Given the description of an element on the screen output the (x, y) to click on. 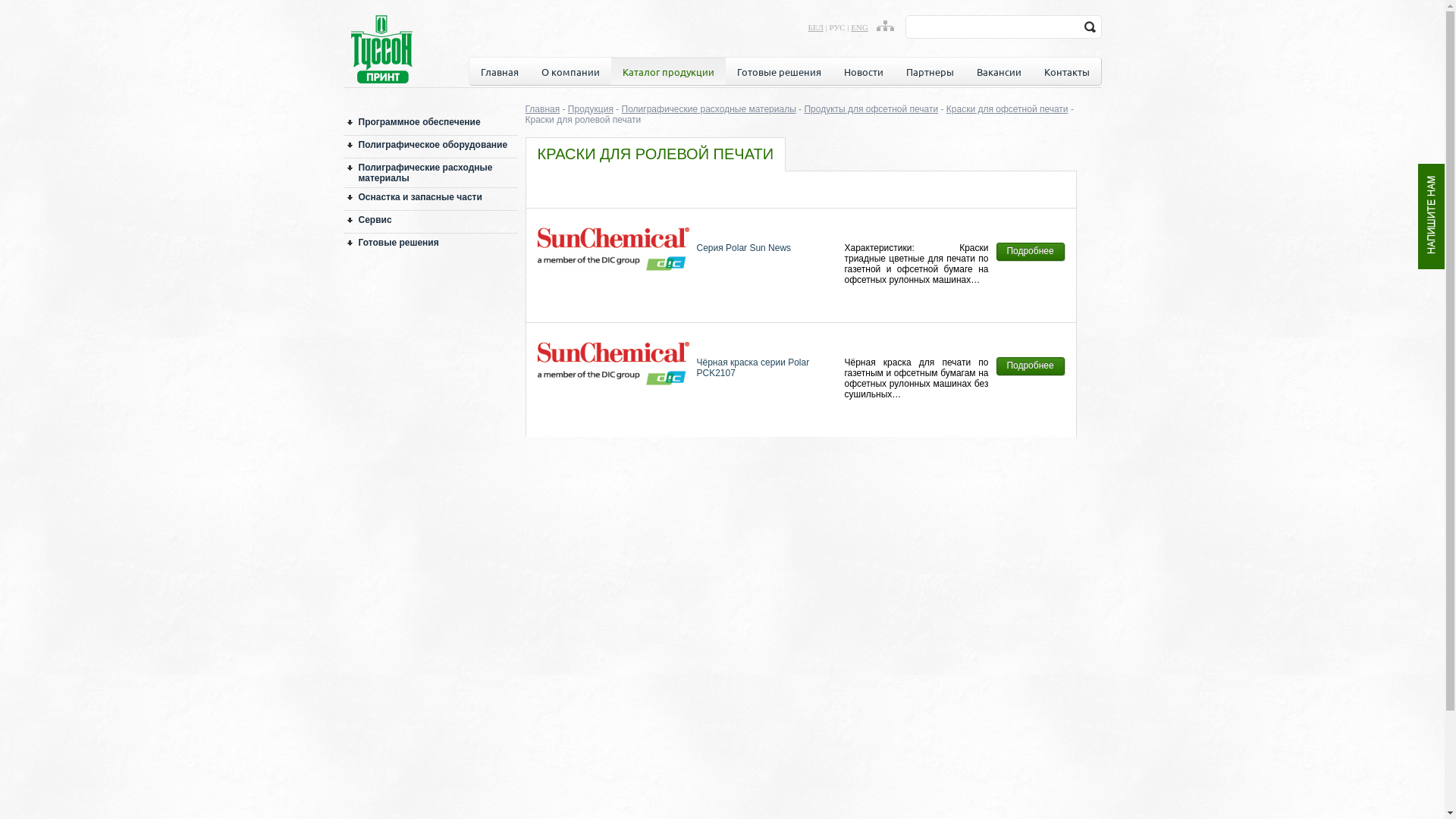
ENG Element type: text (859, 26)
